Given the description of an element on the screen output the (x, y) to click on. 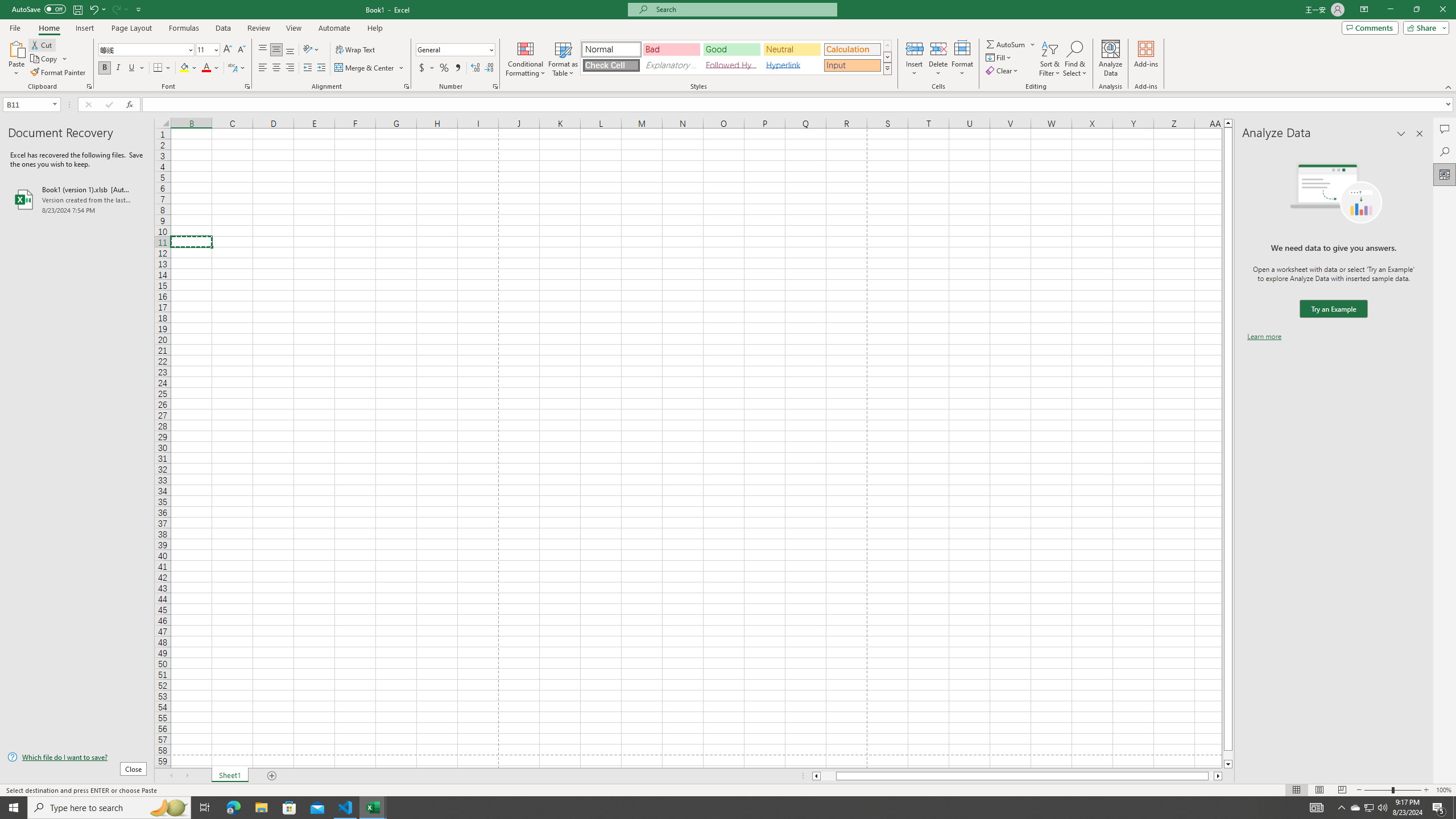
Percent Style (443, 67)
Format Cell Font (247, 85)
Find & Select (1075, 58)
Learn more (1264, 336)
Italic (118, 67)
We need data to give you answers. Try an Example (1333, 308)
Show Phonetic Field (236, 67)
Copy (45, 58)
Hyperlink (791, 65)
